Given the description of an element on the screen output the (x, y) to click on. 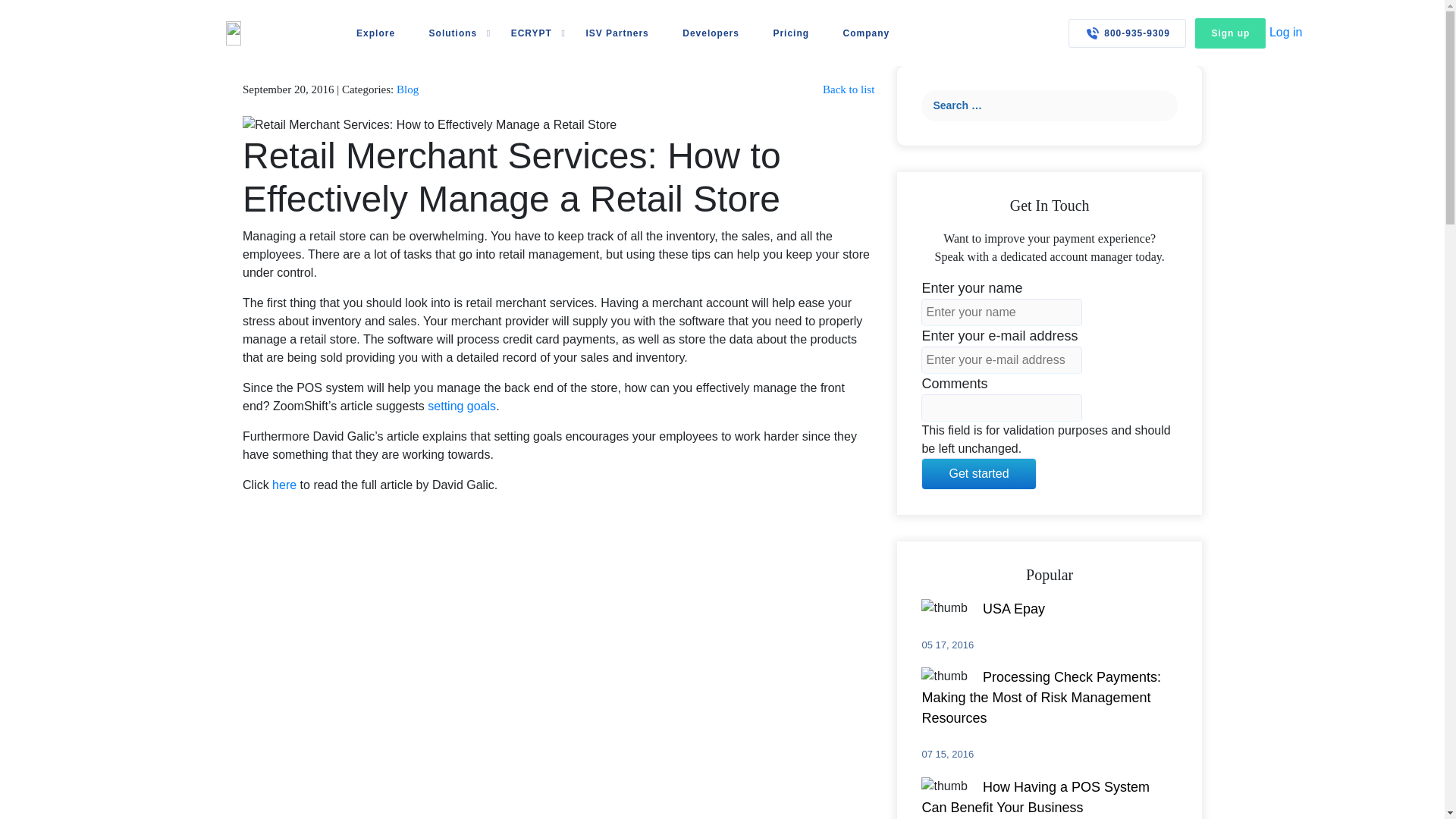
Search (1161, 105)
Get started (978, 473)
Explore (375, 33)
Developers (710, 33)
Search (1161, 105)
Solutions (453, 33)
Company (866, 33)
Pricing (791, 33)
Log in (1286, 31)
ECRYPT (531, 33)
